Given the description of an element on the screen output the (x, y) to click on. 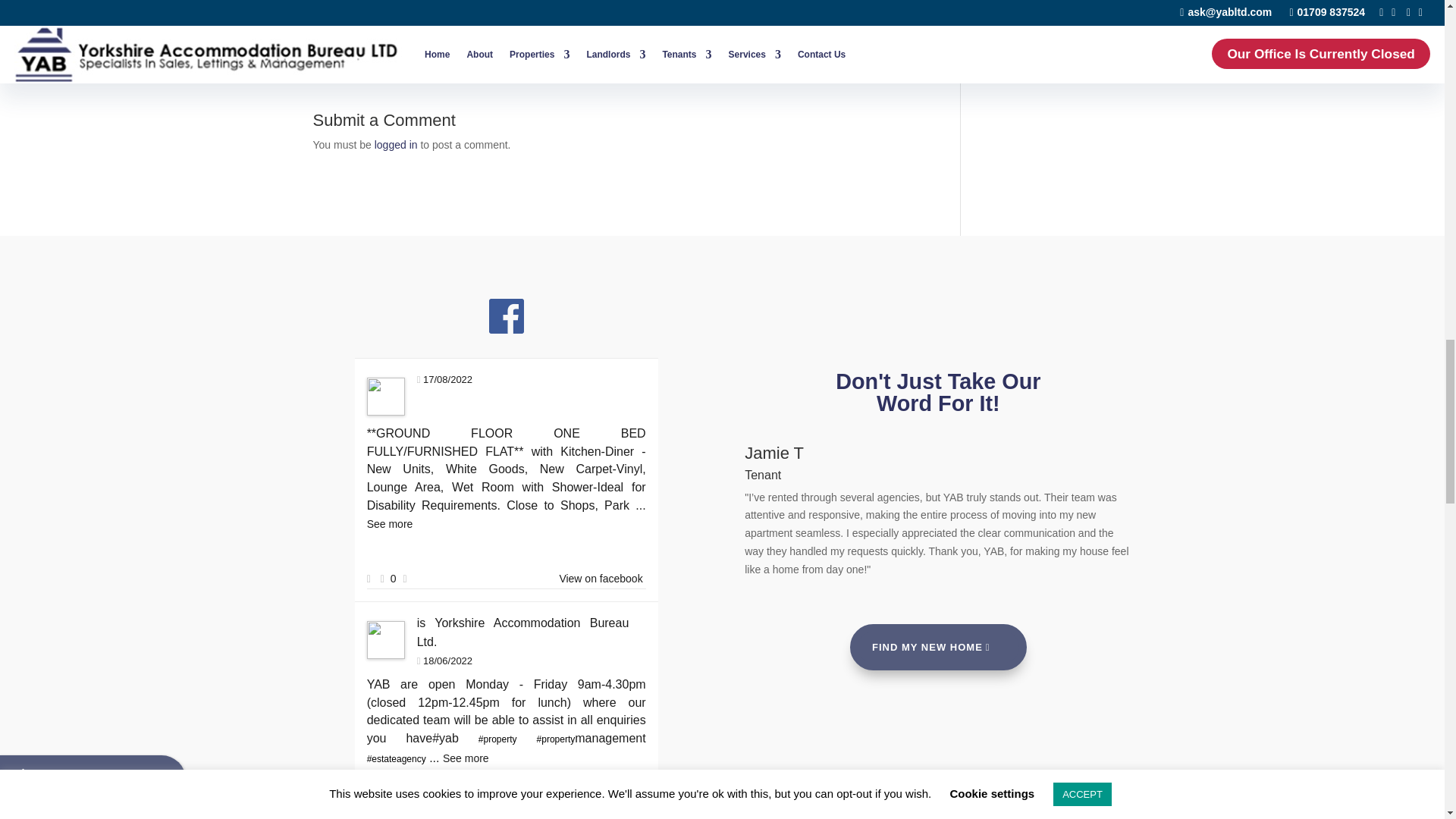
View on facebook (600, 578)
facebook (506, 315)
View on facebook (600, 812)
